Given the description of an element on the screen output the (x, y) to click on. 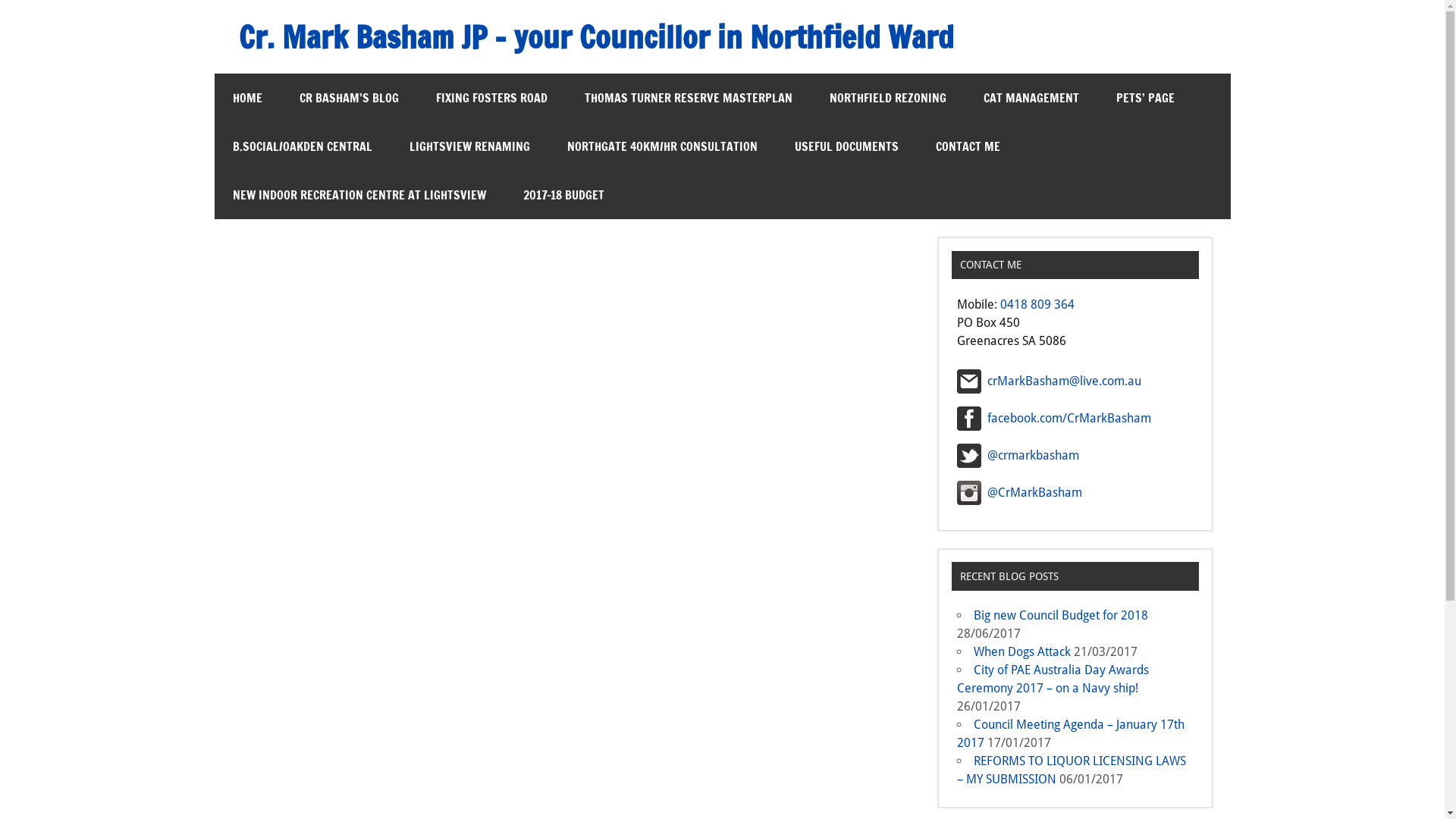
NEW INDOOR RECREATION CENTRE AT LIGHTSVIEW Element type: text (358, 194)
THOMAS TURNER RESERVE MASTERPLAN Element type: text (687, 97)
NORTHGATE 40KM/HR CONSULTATION Element type: text (662, 146)
FIXING FOSTERS ROAD Element type: text (490, 97)
When Dogs Attack Element type: text (1021, 651)
CONTACT ME Element type: text (967, 146)
HOME Element type: text (246, 97)
0418 809 364 Element type: text (1037, 304)
CAT MANAGEMENT Element type: text (1030, 97)
@CrMarkBasham Element type: text (1019, 492)
LIGHTSVIEW RENAMING Element type: text (469, 146)
2017-18 BUDGET Element type: text (563, 194)
USEFUL DOCUMENTS Element type: text (846, 146)
Cr. Mark Basham JP - your Councillor in Northfield Ward Element type: text (595, 36)
crMarkBasham@live.com.au Element type: text (1049, 381)
Big new Council Budget for 2018 Element type: text (1060, 615)
facebook.com/CrMarkBasham Element type: text (1054, 418)
B.SOCIAL/OAKDEN CENTRAL Element type: text (301, 146)
NORTHFIELD REZONING Element type: text (887, 97)
@crmarkbasham Element type: text (1018, 455)
